Given the description of an element on the screen output the (x, y) to click on. 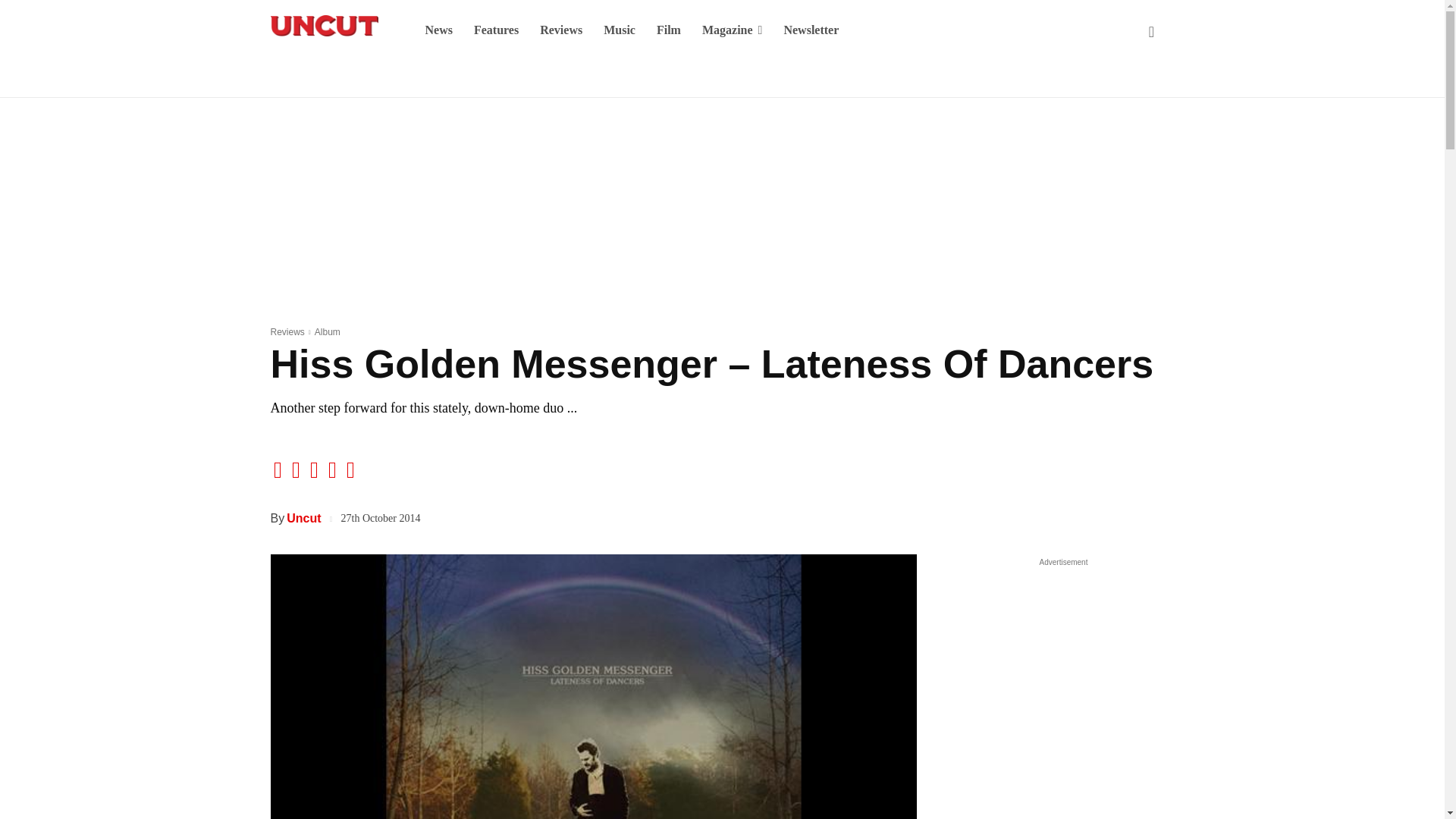
View all posts in Album (327, 331)
Features (496, 30)
Newsletter (810, 30)
Uncut Logo (323, 25)
Reviews (560, 30)
Magazine (732, 30)
View all posts in Reviews (286, 331)
